Given the description of an element on the screen output the (x, y) to click on. 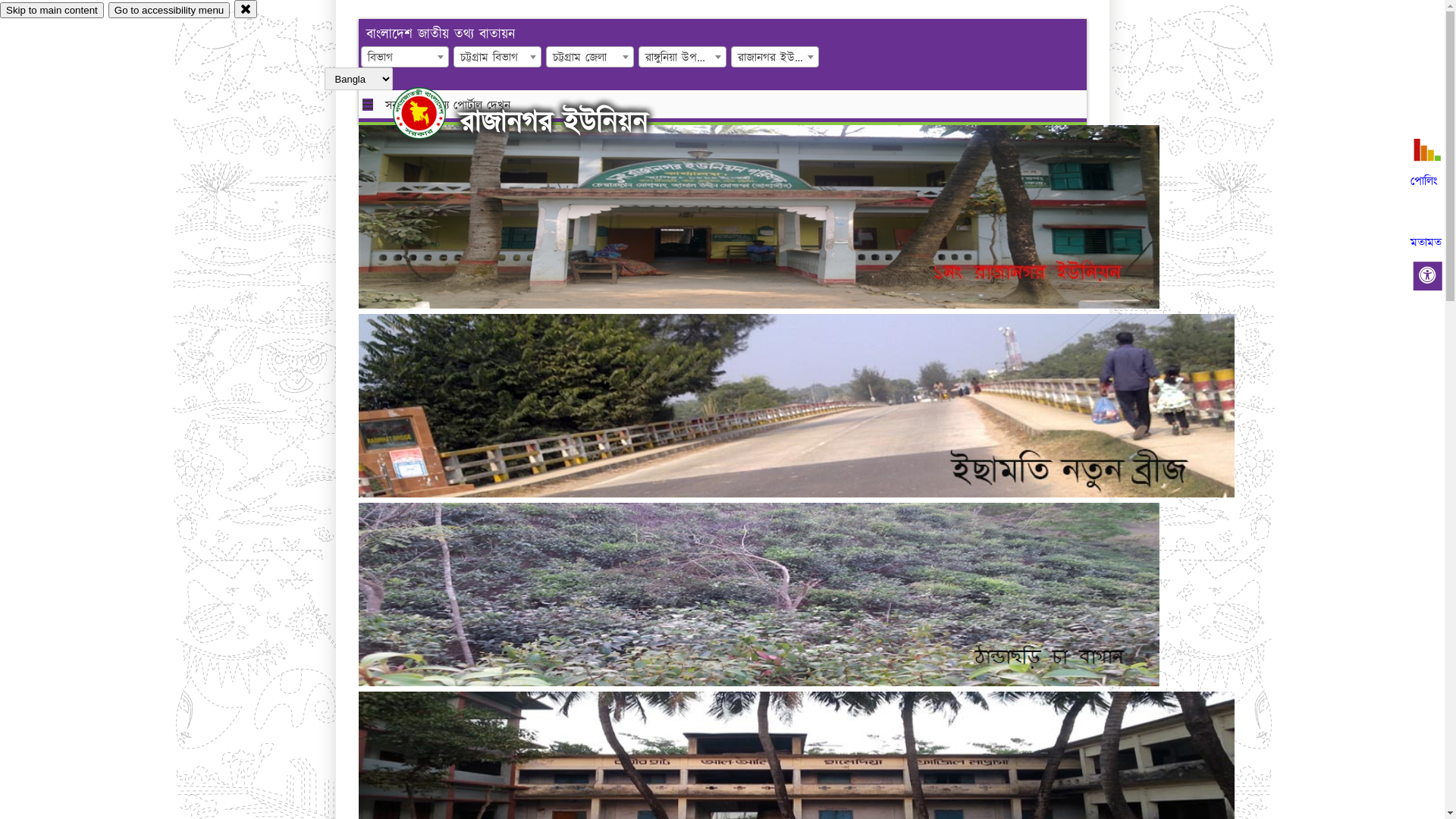

                
             Element type: hover (431, 112)
close Element type: hover (245, 9)
Skip to main content Element type: text (51, 10)
Go to accessibility menu Element type: text (168, 10)
